Given the description of an element on the screen output the (x, y) to click on. 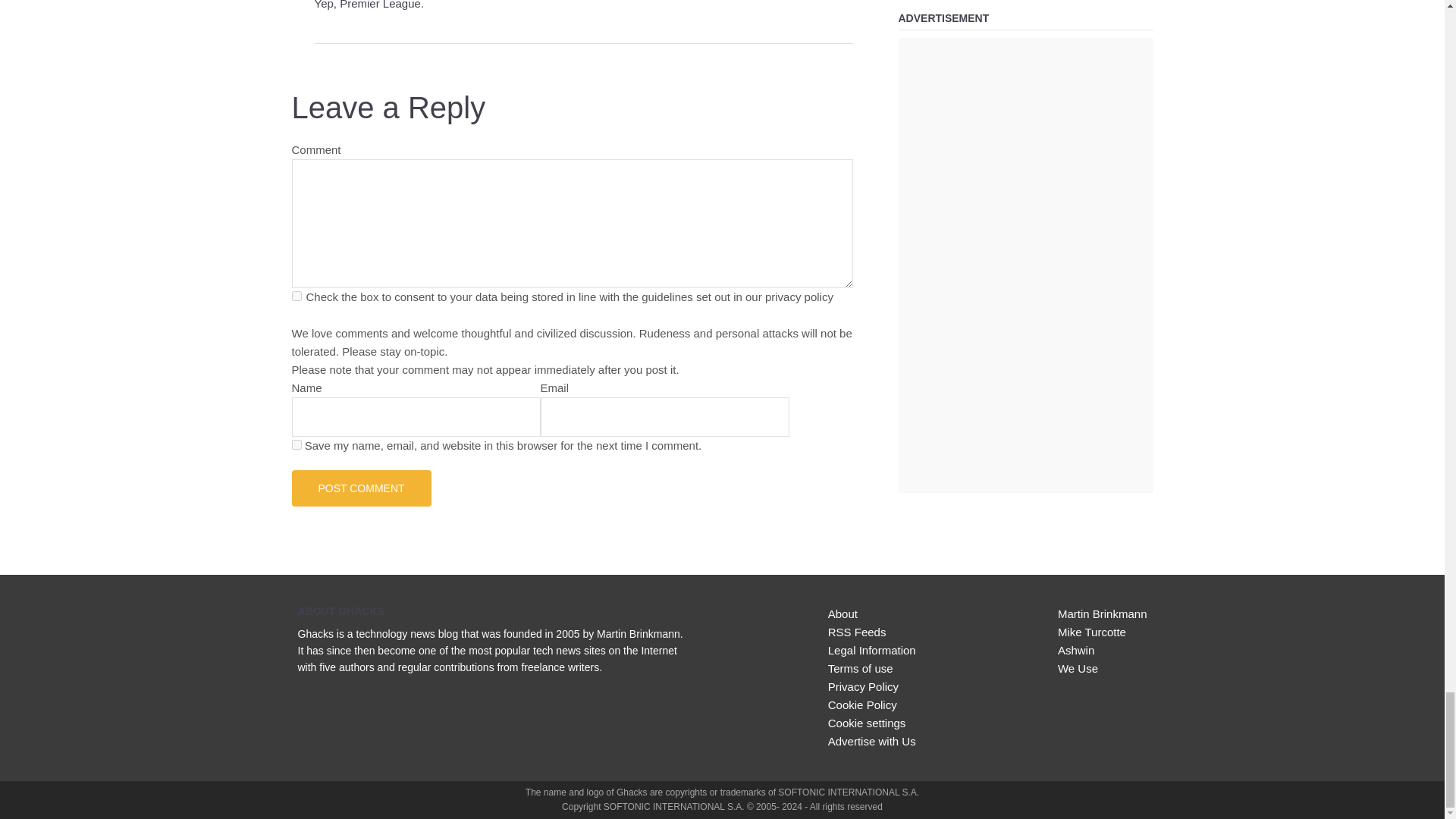
yes (296, 444)
Post Comment (360, 488)
privacy-key (296, 296)
